Given the description of an element on the screen output the (x, y) to click on. 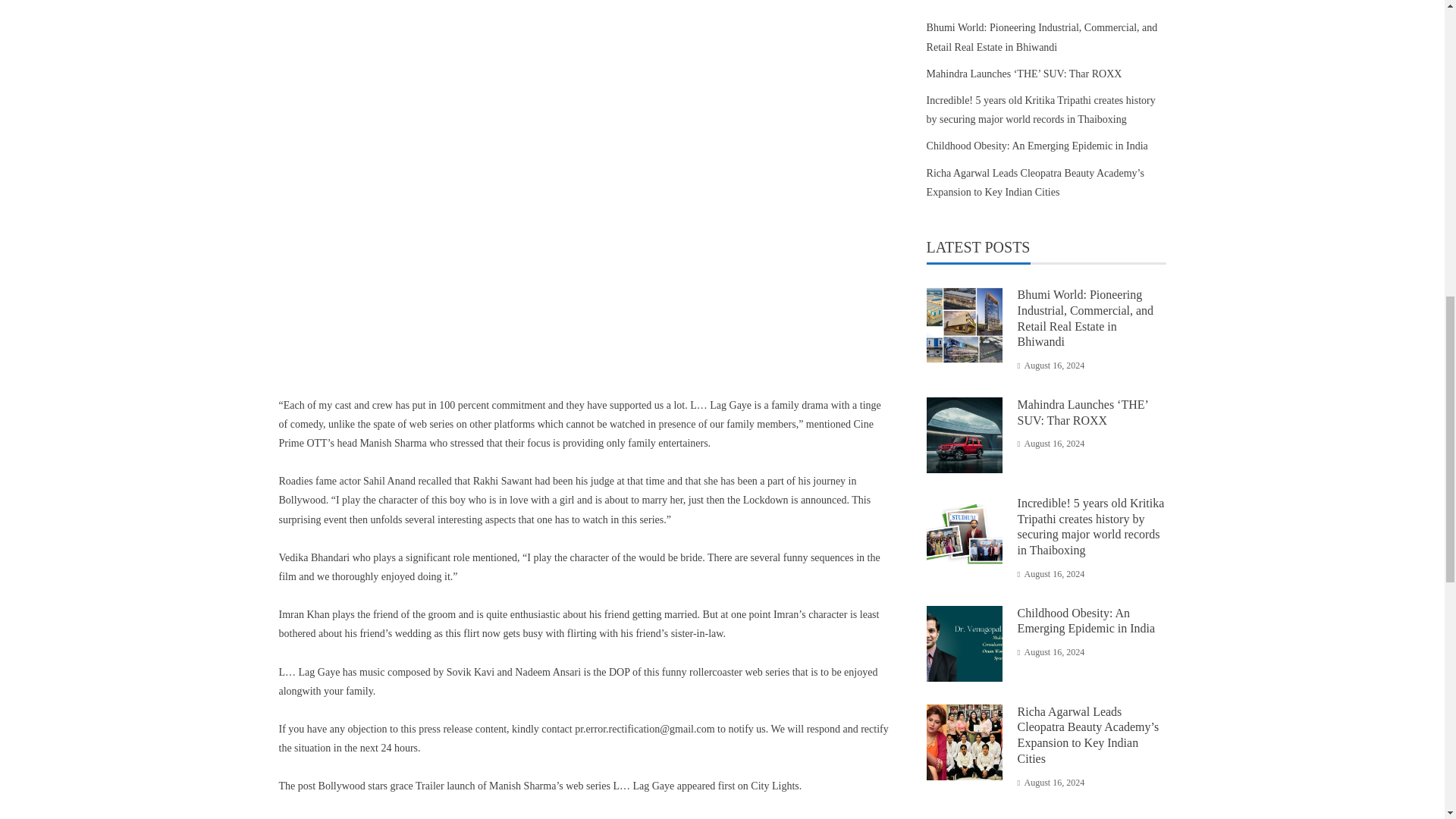
City Lights (774, 785)
Childhood Obesity: An Emerging Epidemic in India (1037, 145)
Entertainment (360, 818)
